Given the description of an element on the screen output the (x, y) to click on. 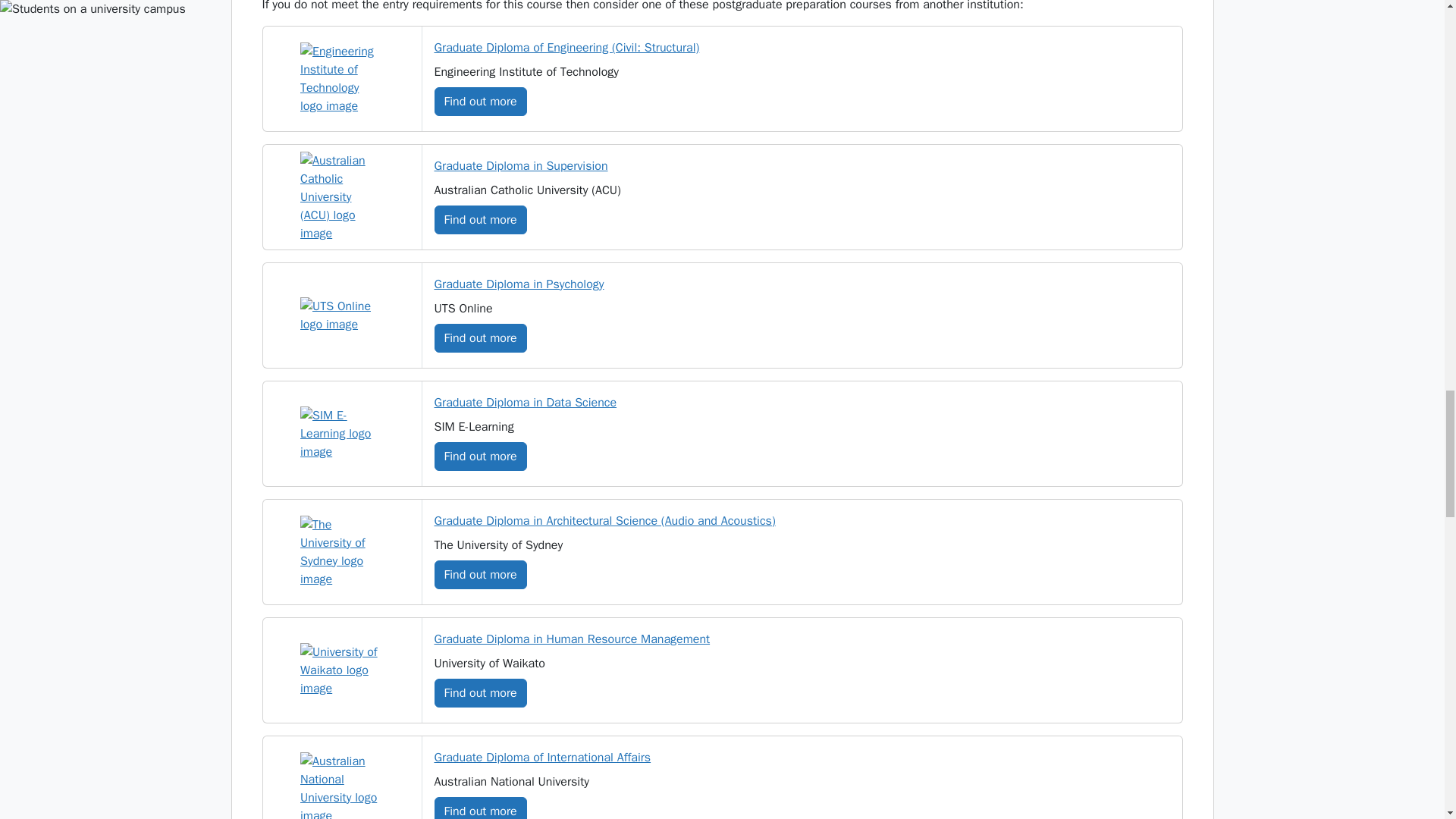
SIM E-Learning (341, 433)
The University of Sydney (341, 551)
Engineering Institute of Technology (341, 78)
University of Waikato (341, 669)
UTS Online (341, 315)
